Given the description of an element on the screen output the (x, y) to click on. 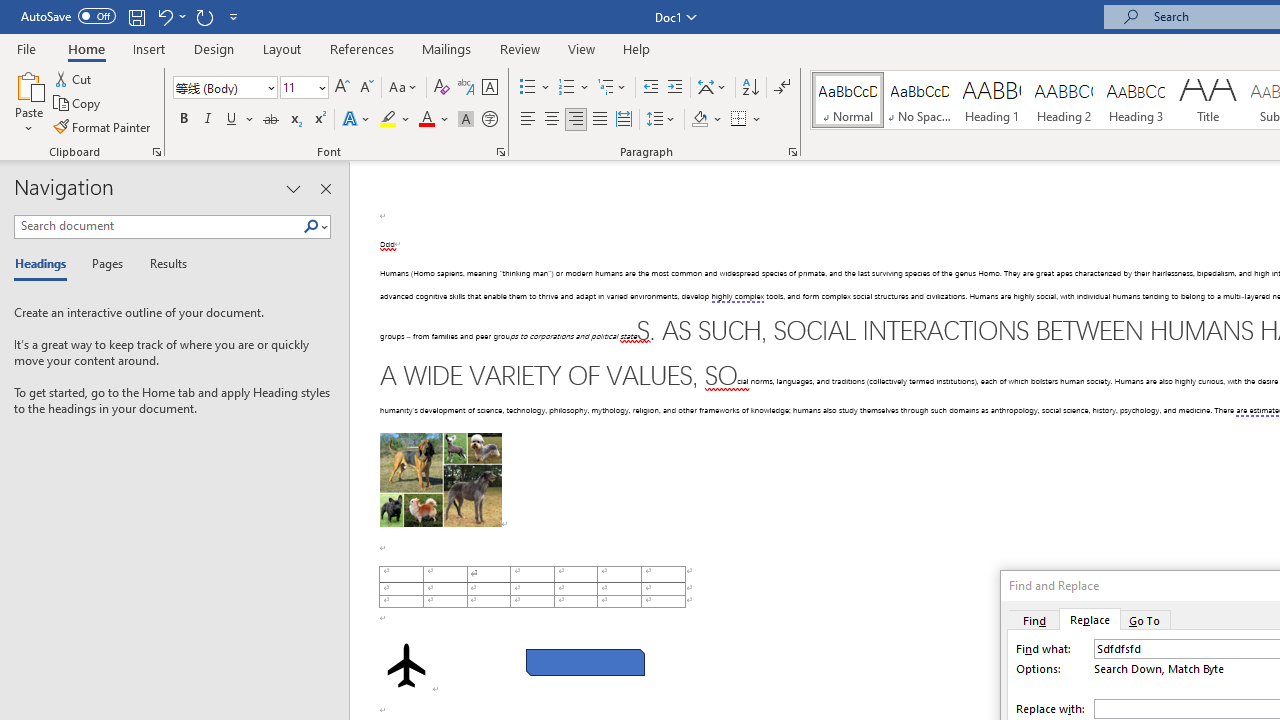
Decrease Indent (650, 87)
Underline (239, 119)
Layout (282, 48)
Paste (28, 84)
Show/Hide Editing Marks (781, 87)
Borders (746, 119)
Numbering (566, 87)
System (10, 11)
Search (315, 227)
Center (552, 119)
References (362, 48)
Task Pane Options (293, 188)
Office Clipboard... (156, 151)
